Given the description of an element on the screen output the (x, y) to click on. 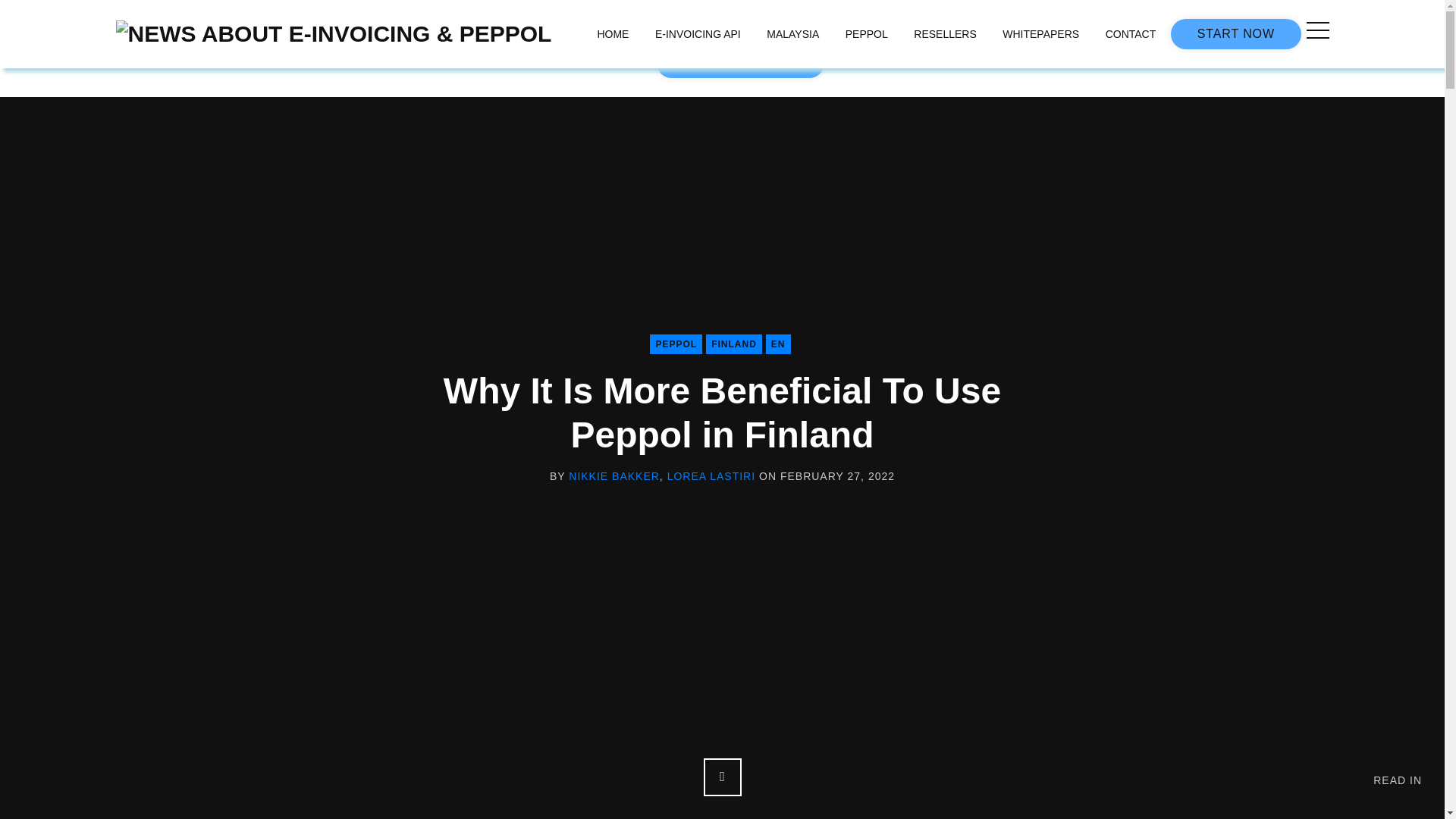
RESELLERS (944, 33)
HOME (612, 33)
FINLAND (733, 343)
E-INVOICING API (697, 33)
PEPPOL (866, 33)
CONTACT (616, 62)
Scroll Down (722, 777)
EN (777, 343)
CONTACT (1130, 33)
Open Sidebar (1316, 29)
